Given the description of an element on the screen output the (x, y) to click on. 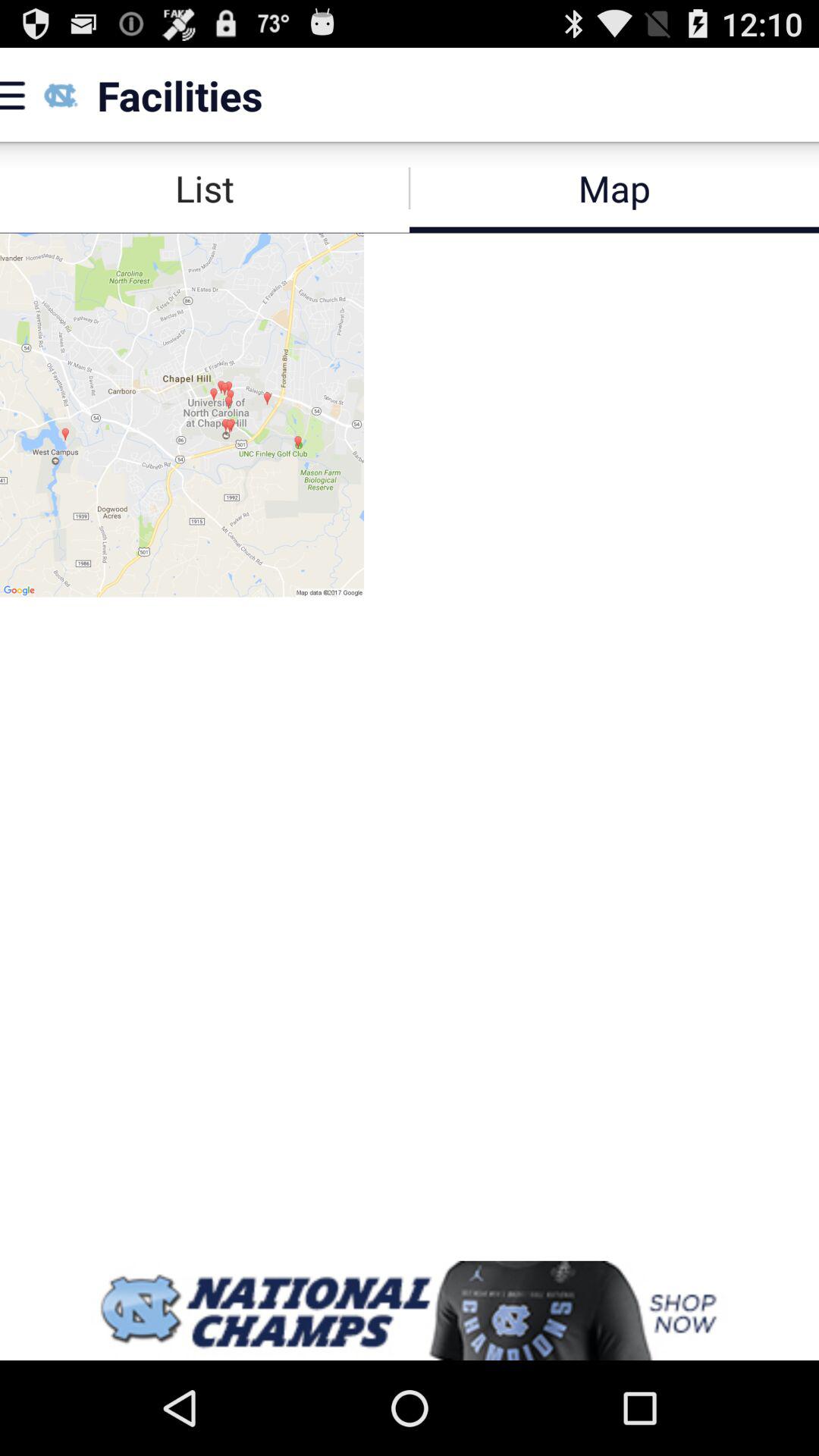
advertisement the article (409, 1310)
